Given the description of an element on the screen output the (x, y) to click on. 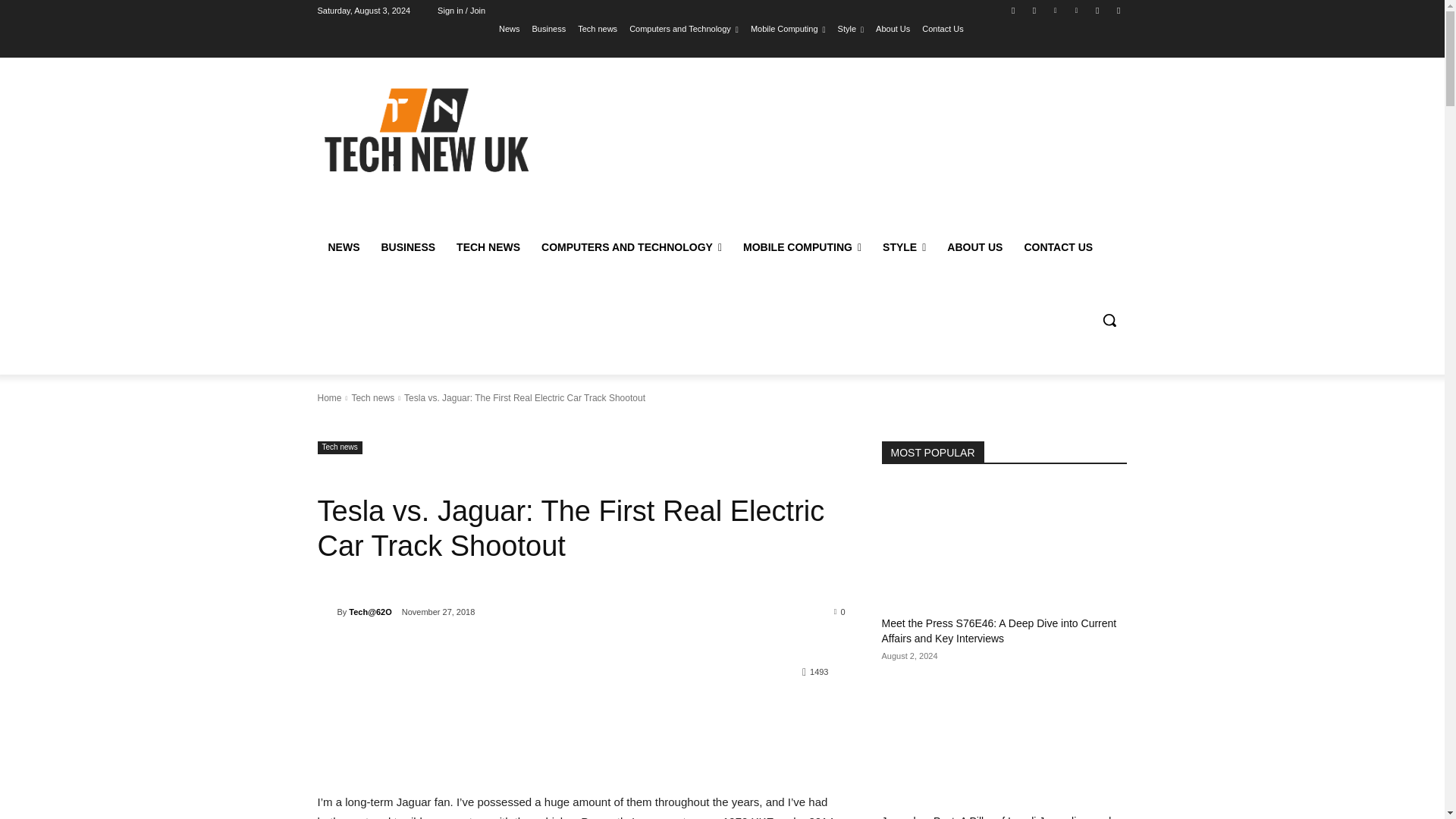
Contact Us (941, 28)
View all posts in Tech news (372, 398)
Linkedin (1055, 9)
Youtube (1117, 9)
About Us (893, 28)
News (509, 28)
Facebook (1013, 9)
Style (851, 28)
Instagram (1034, 9)
Mobile Computing (788, 28)
Business (549, 28)
Twitter (1097, 9)
Tech news (597, 28)
Computers and Technology (683, 28)
Pinterest (1075, 9)
